Given the description of an element on the screen output the (x, y) to click on. 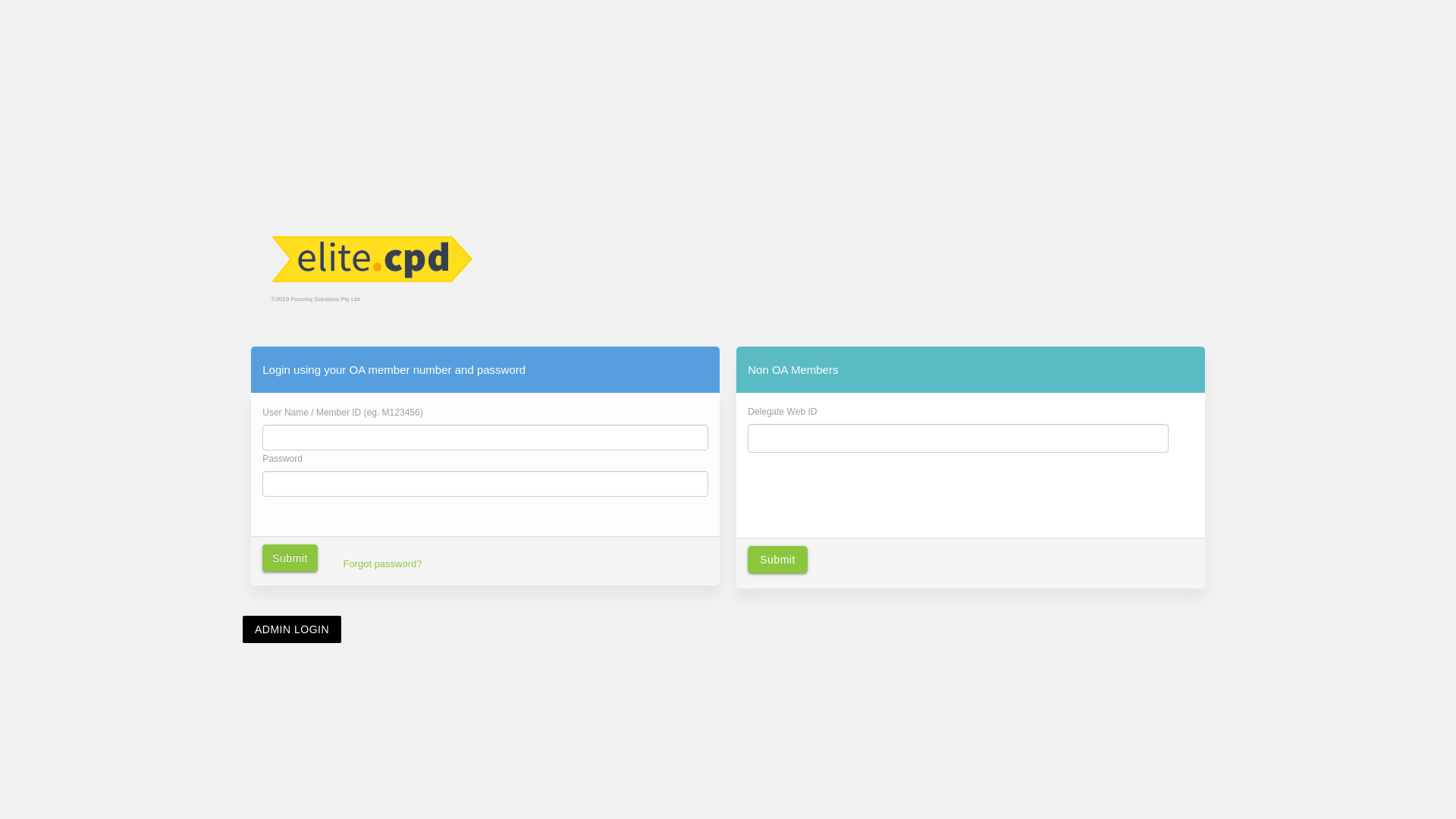
ADMIN LOGIN Element type: text (291, 623)
Forgot password? Element type: text (340, 558)
Submit Element type: text (777, 565)
SUBMIT Element type: text (275, 560)
